Given the description of an element on the screen output the (x, y) to click on. 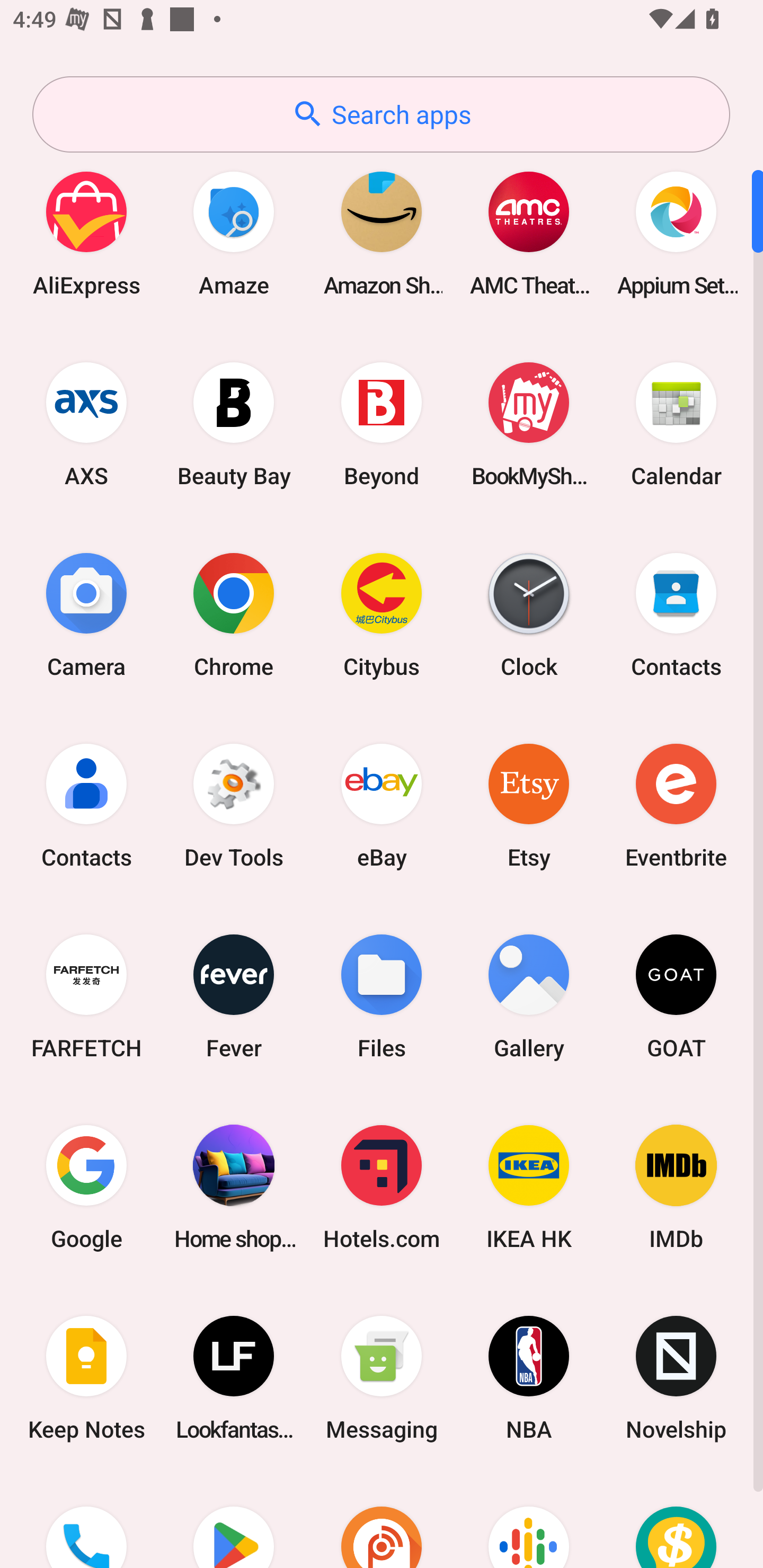
  Search apps (381, 114)
AliExpress (86, 233)
Amaze (233, 233)
Amazon Shopping (381, 233)
AMC Theatres (528, 233)
Appium Settings (676, 233)
AXS (86, 424)
Beauty Bay (233, 424)
Beyond (381, 424)
BookMyShow (528, 424)
Calendar (676, 424)
Camera (86, 614)
Chrome (233, 614)
Citybus (381, 614)
Clock (528, 614)
Contacts (676, 614)
Contacts (86, 805)
Dev Tools (233, 805)
eBay (381, 805)
Etsy (528, 805)
Eventbrite (676, 805)
FARFETCH (86, 996)
Fever (233, 996)
Files (381, 996)
Gallery (528, 996)
GOAT (676, 996)
Google (86, 1186)
Home shopping (233, 1186)
Hotels.com (381, 1186)
IKEA HK (528, 1186)
IMDb (676, 1186)
Keep Notes (86, 1377)
Lookfantastic (233, 1377)
Messaging (381, 1377)
NBA (528, 1377)
Novelship (676, 1377)
Phone (86, 1520)
Play Store (233, 1520)
Podcast Addict (381, 1520)
Podcasts (528, 1520)
Price (676, 1520)
